Given the description of an element on the screen output the (x, y) to click on. 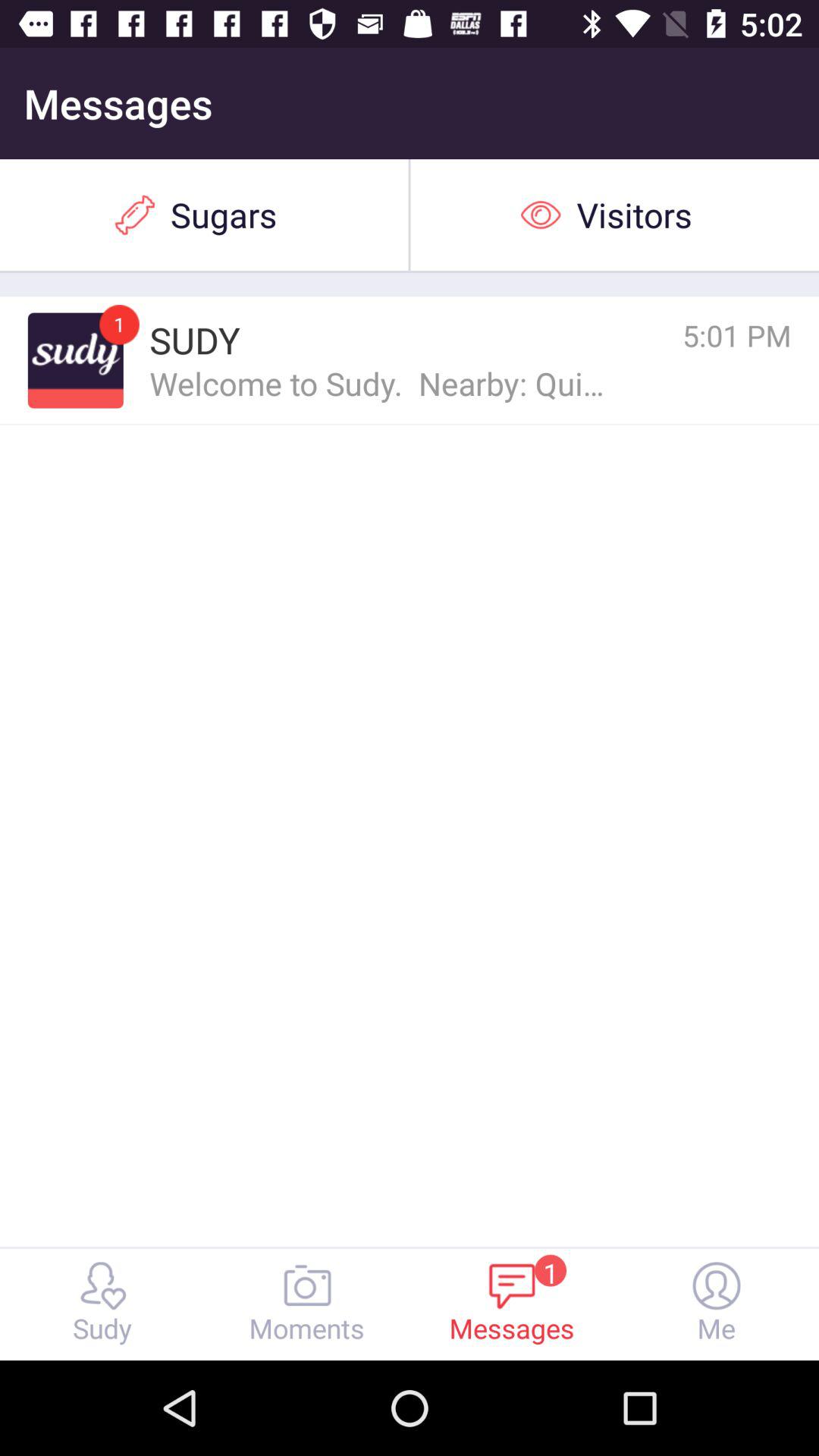
choose the 5:01 pm icon (669, 335)
